Given the description of an element on the screen output the (x, y) to click on. 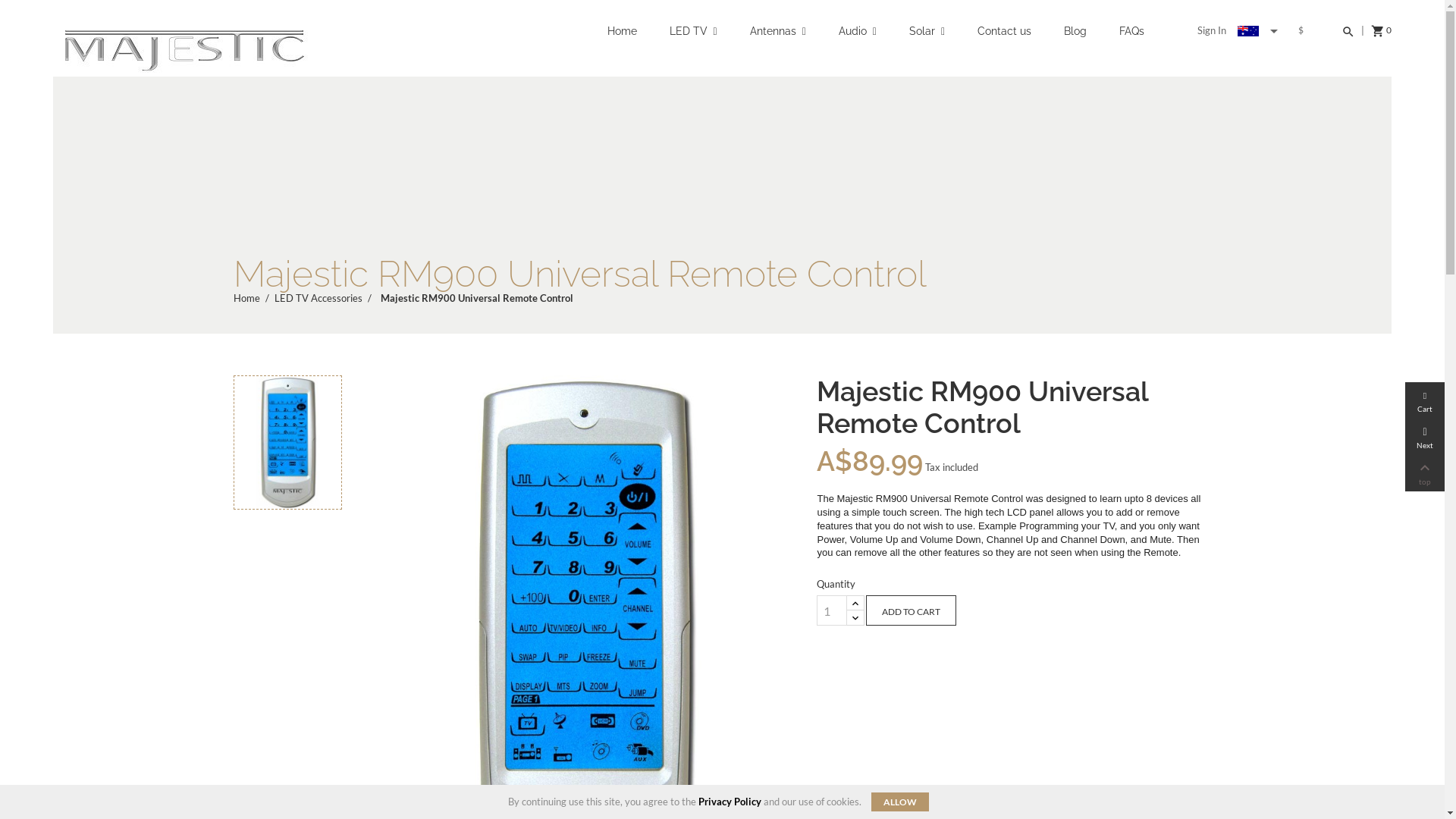
Home Element type: text (621, 38)
FAQs Element type: text (1131, 38)
Refresh Element type: text (22, 8)
LED TV Accessories Element type: text (319, 297)
Solar Element type: text (927, 38)
Privacy Policy Element type: text (729, 801)
ALLOW Element type: text (899, 801)
Cart Element type: text (1424, 400)
Home Element type: text (247, 297)
Sign In Element type: text (1211, 30)
Majestic RM900 Universal Remote Control Element type: text (476, 297)
Audio Element type: text (857, 38)
Antennas Element type: text (777, 38)
Australia Element type: hover (1247, 30)
Contact us Element type: text (1004, 38)
Next Element type: text (1424, 436)
ADD TO CART Element type: text (911, 610)
LED TV Element type: text (692, 38)
Blog Element type: text (1074, 38)
shopping_cart 0 Element type: text (1381, 30)
